Given the description of an element on the screen output the (x, y) to click on. 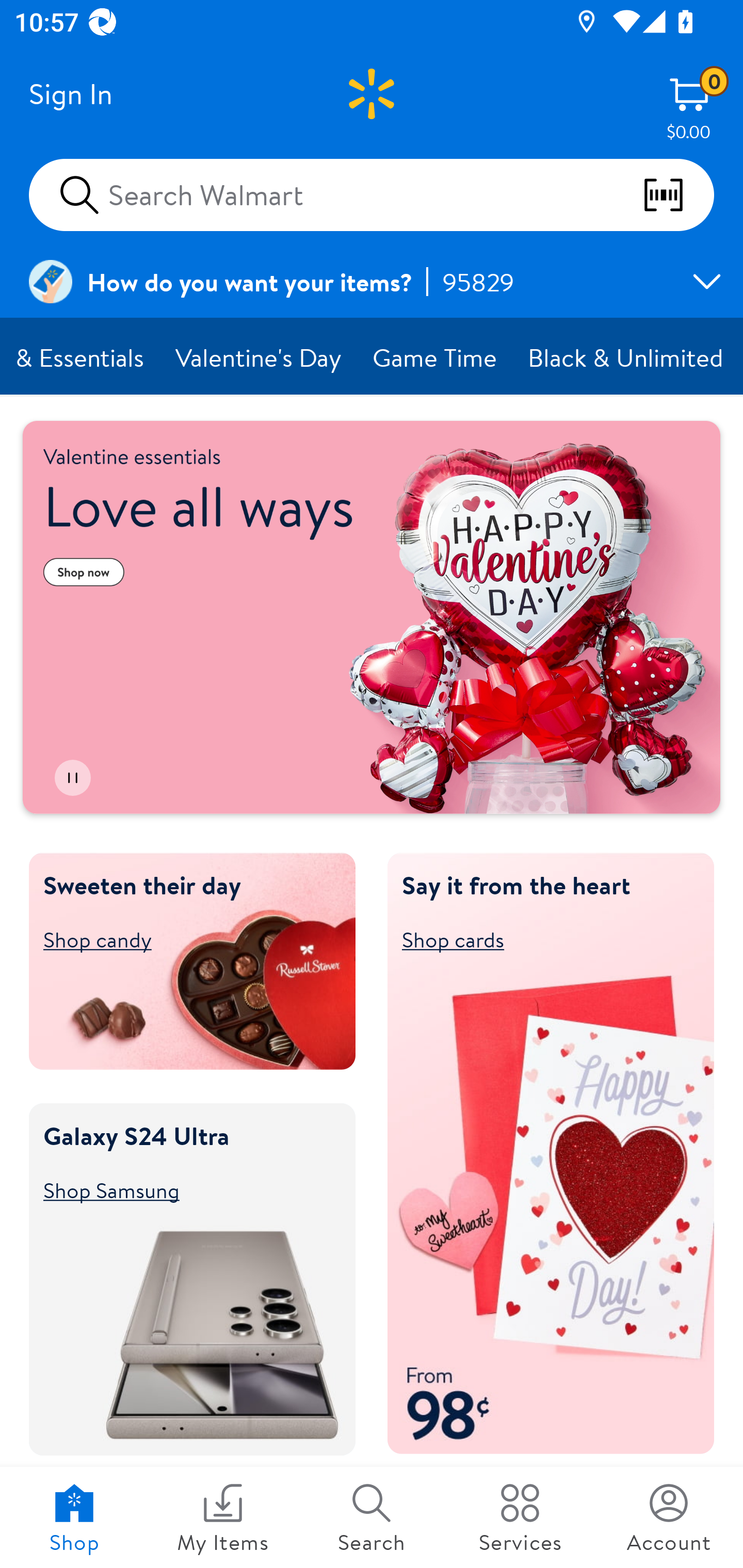
Sign In (70, 93)
Search Walmart scan barcodes qr codes and more (371, 194)
scan barcodes qr codes and more (677, 195)
Grocery & Essentials (80, 357)
Valentine's Day (259, 357)
Game Time (435, 357)
Black & Unlimited (626, 357)
Pause (72, 777)
Shop candy Shop candy Sweeten their day (183, 939)
Shop cards Shop cards Say it from the heart (541, 939)
Shop Samsung Shop Samsung Galaxy S24 Ultra (183, 1190)
My Items (222, 1517)
Search (371, 1517)
Services (519, 1517)
Account (668, 1517)
